Given the description of an element on the screen output the (x, y) to click on. 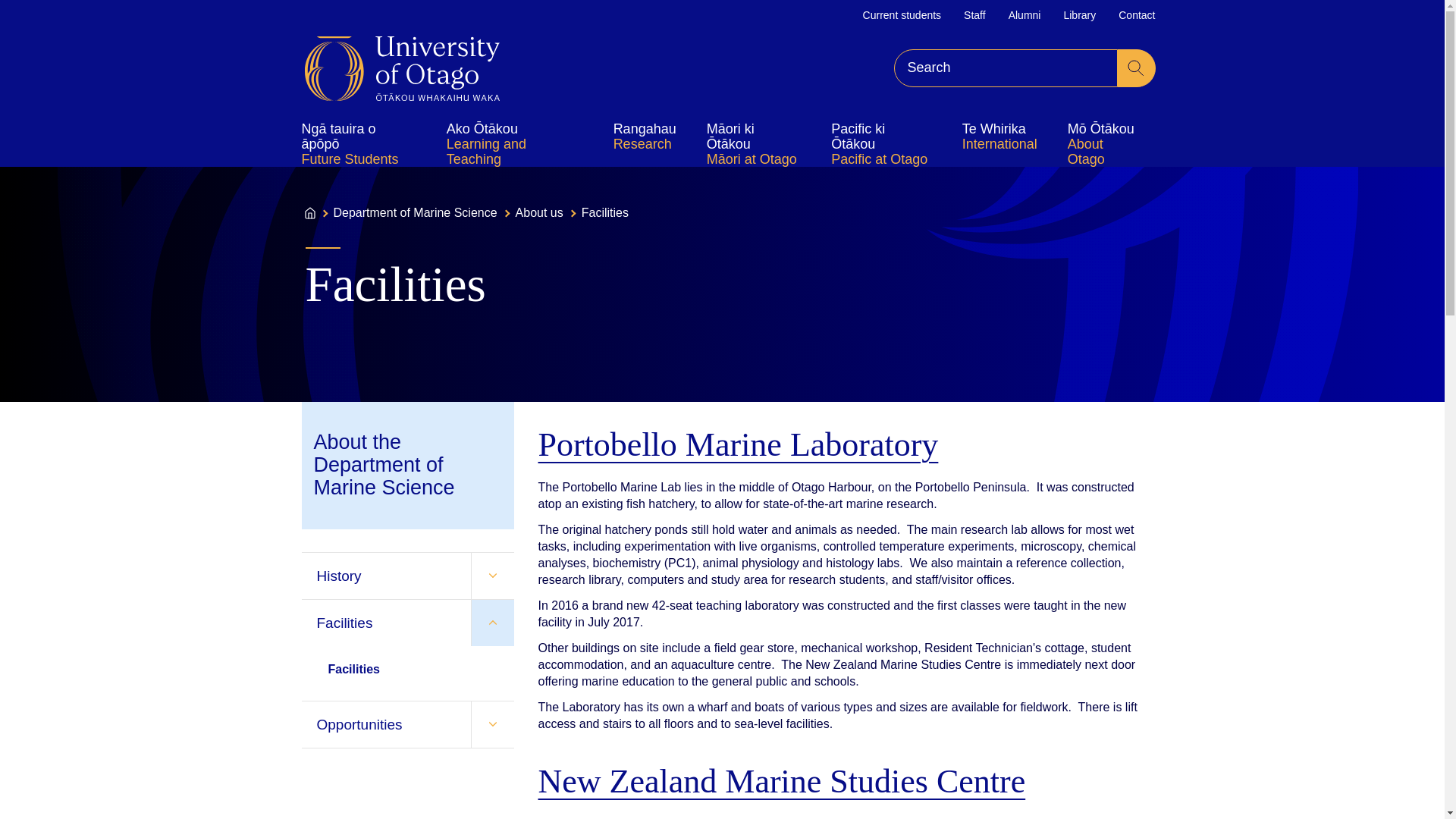
Staff (974, 15)
Alumni (1025, 15)
New Zealand Marine Studies Centre (786, 818)
Home (402, 68)
Library (1079, 15)
Contact (1136, 15)
Current students (902, 15)
